Given the description of an element on the screen output the (x, y) to click on. 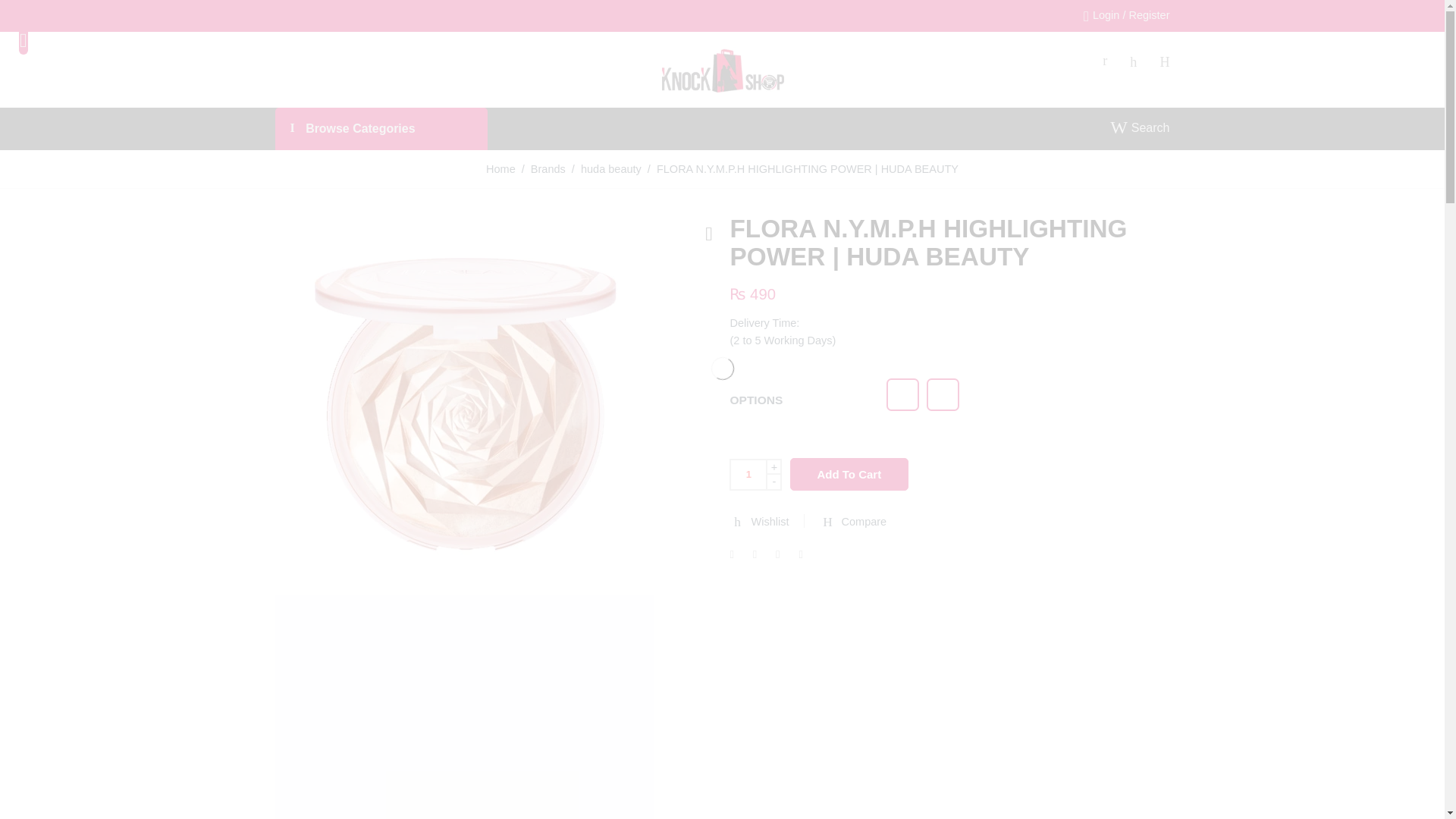
Knock n Shop - knock n shop (722, 67)
1 (748, 474)
